Given the description of an element on the screen output the (x, y) to click on. 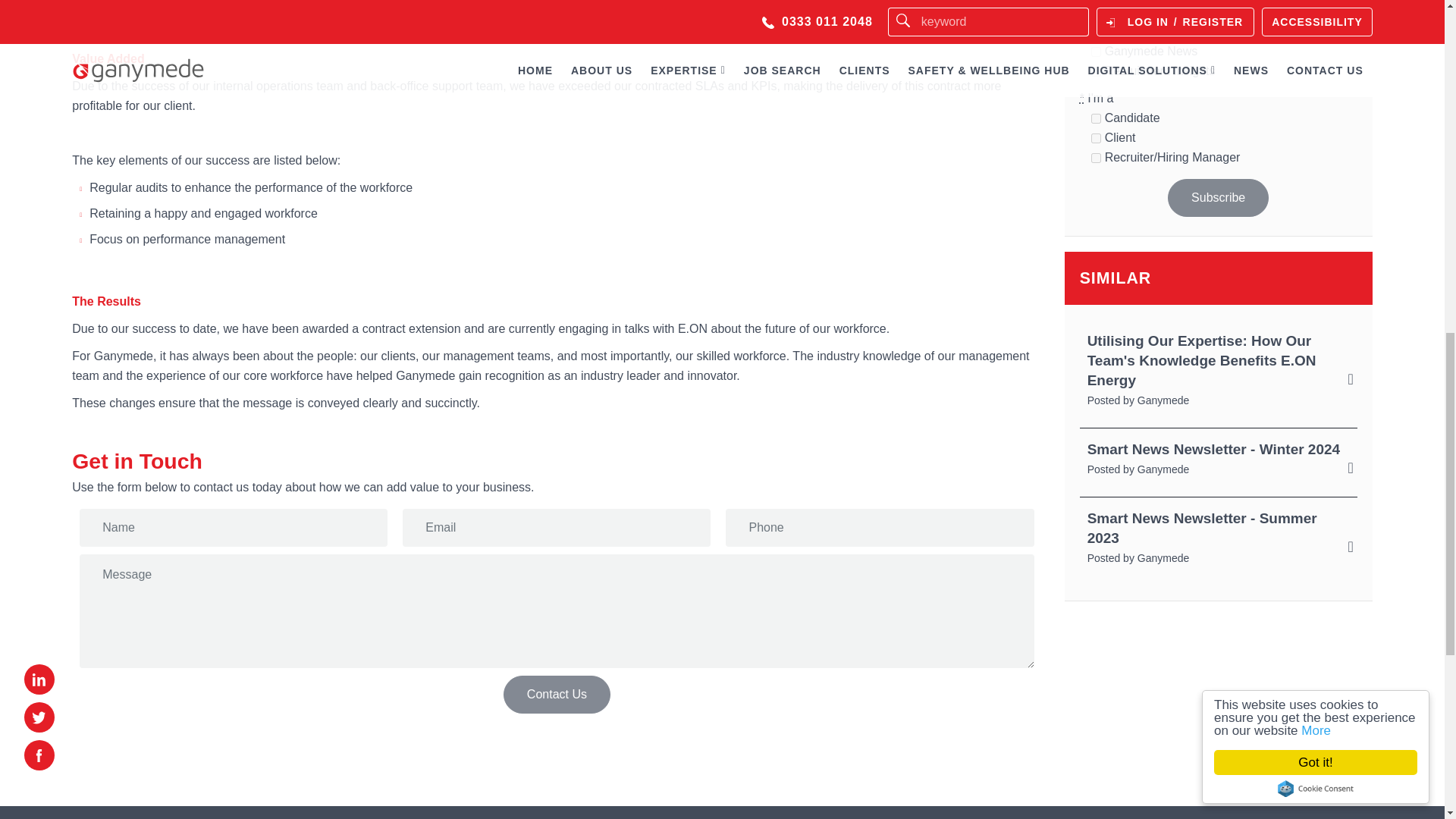
Engineering Blog (1095, 12)
Client  (1095, 138)
Contact Us (556, 694)
Ganymede News (1095, 51)
Recruitment Insights (1095, 71)
Safety First Publications (1095, 31)
Candidate (1095, 118)
Subscribe (1217, 198)
